Given the description of an element on the screen output the (x, y) to click on. 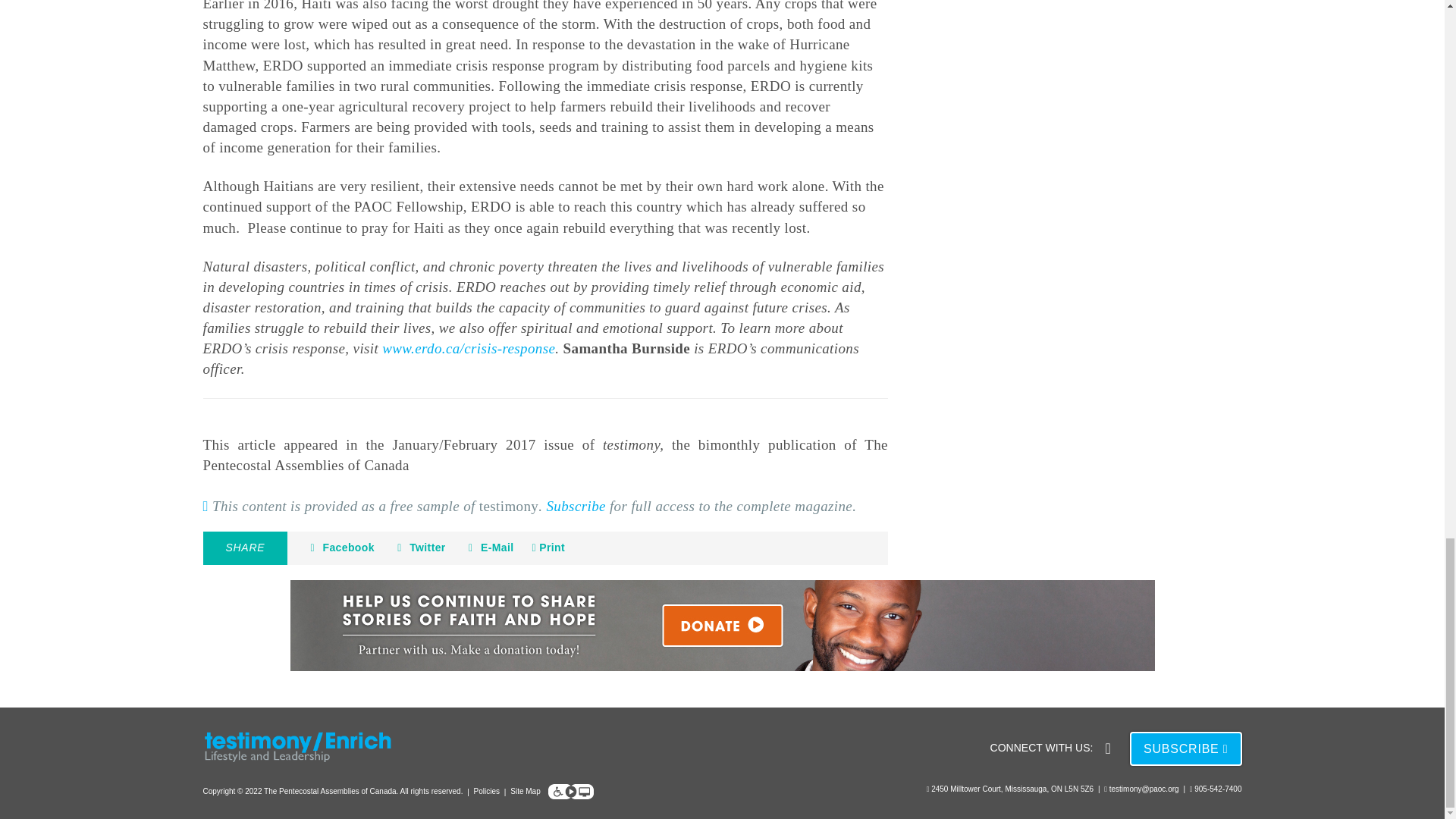
2 (721, 624)
Print (547, 547)
Toggle Accessibility (571, 791)
Subscribe (575, 505)
Twitter (419, 547)
Testimony (305, 747)
E-Mail (488, 547)
Facebook (339, 547)
